Given the description of an element on the screen output the (x, y) to click on. 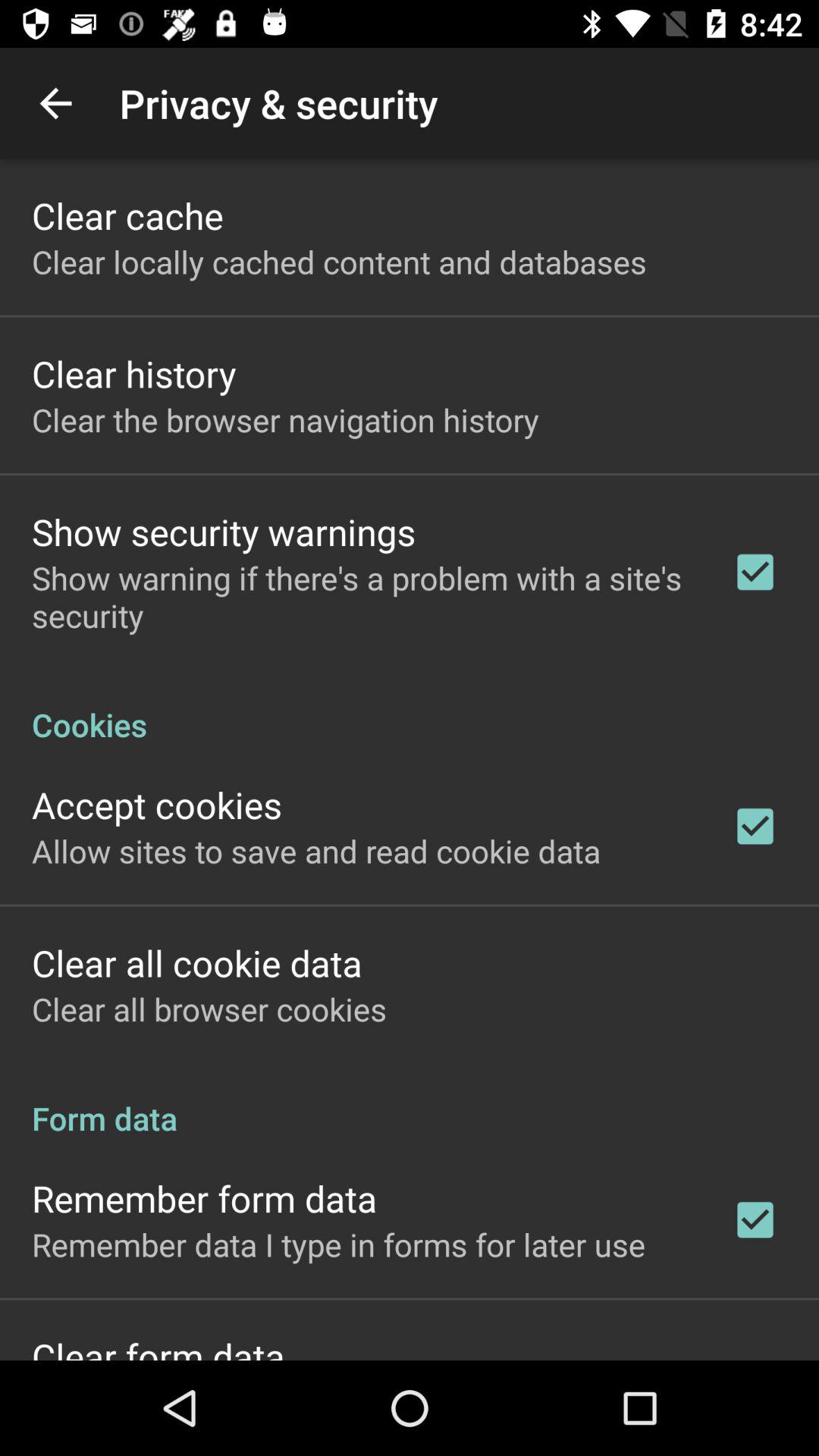
launch app below show security warnings item (361, 596)
